Given the description of an element on the screen output the (x, y) to click on. 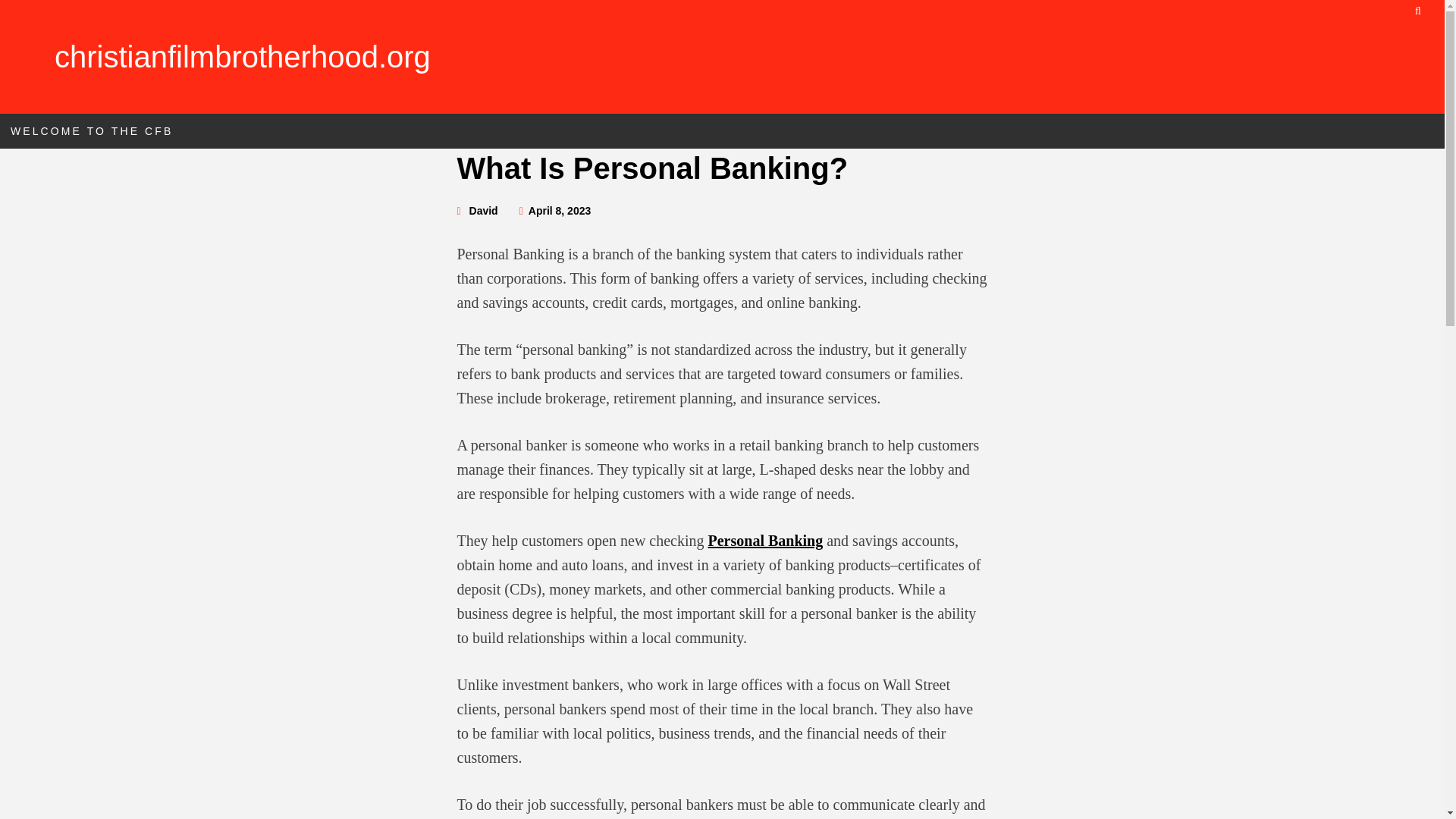
WELCOME TO THE CFB (91, 130)
Personal Banking (765, 540)
April 8, 2023 (559, 210)
David (482, 210)
christianfilmbrotherhood.org (242, 56)
